Given the description of an element on the screen output the (x, y) to click on. 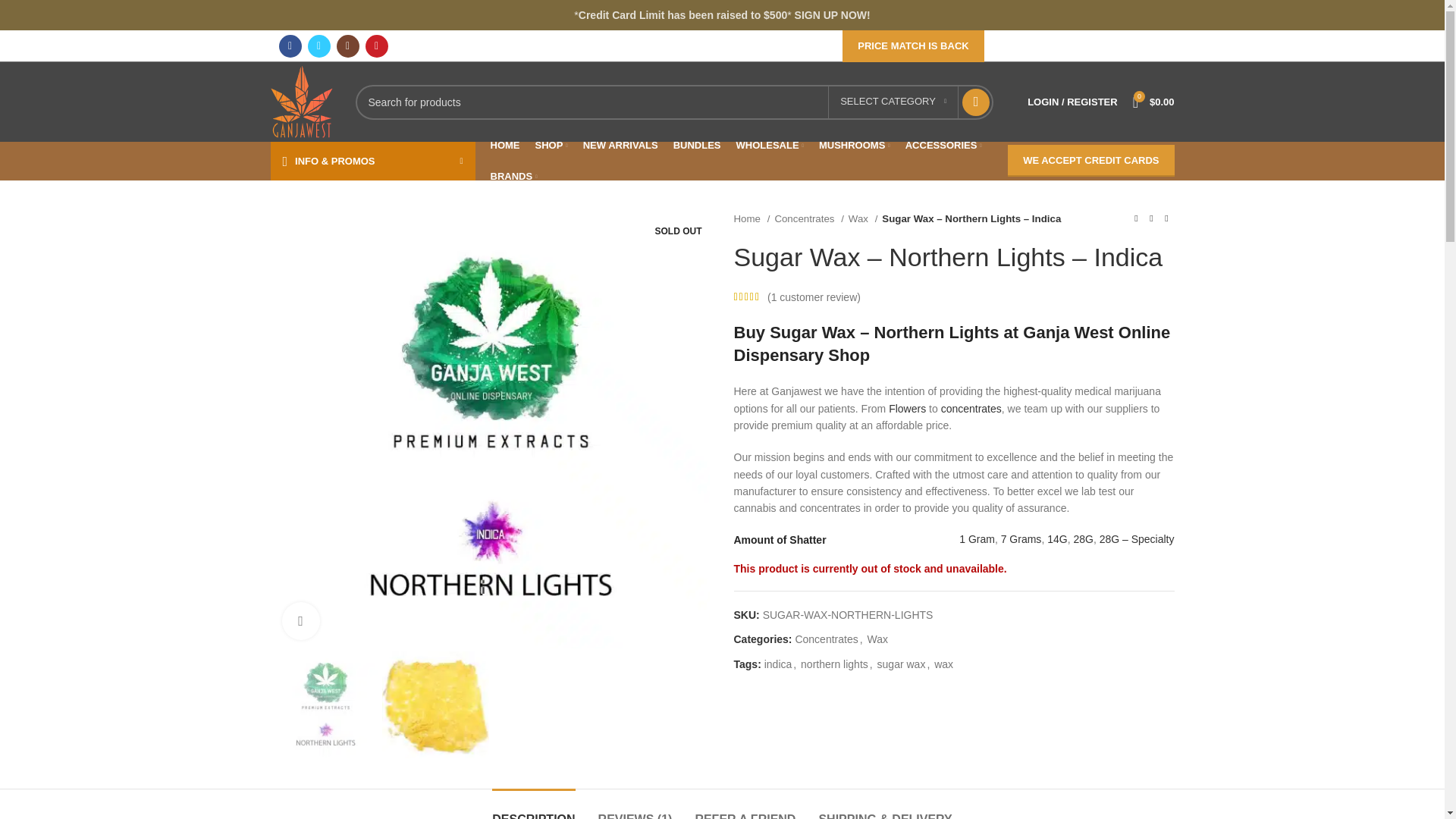
Shopping cart (1153, 101)
PRICE MATCH IS BACK (913, 46)
ABOUT (1015, 45)
My account (1072, 101)
SELECT CATEGORY (893, 101)
SELECT CATEGORY (893, 101)
CONTACT (1068, 45)
Search for products (673, 102)
